Given the description of an element on the screen output the (x, y) to click on. 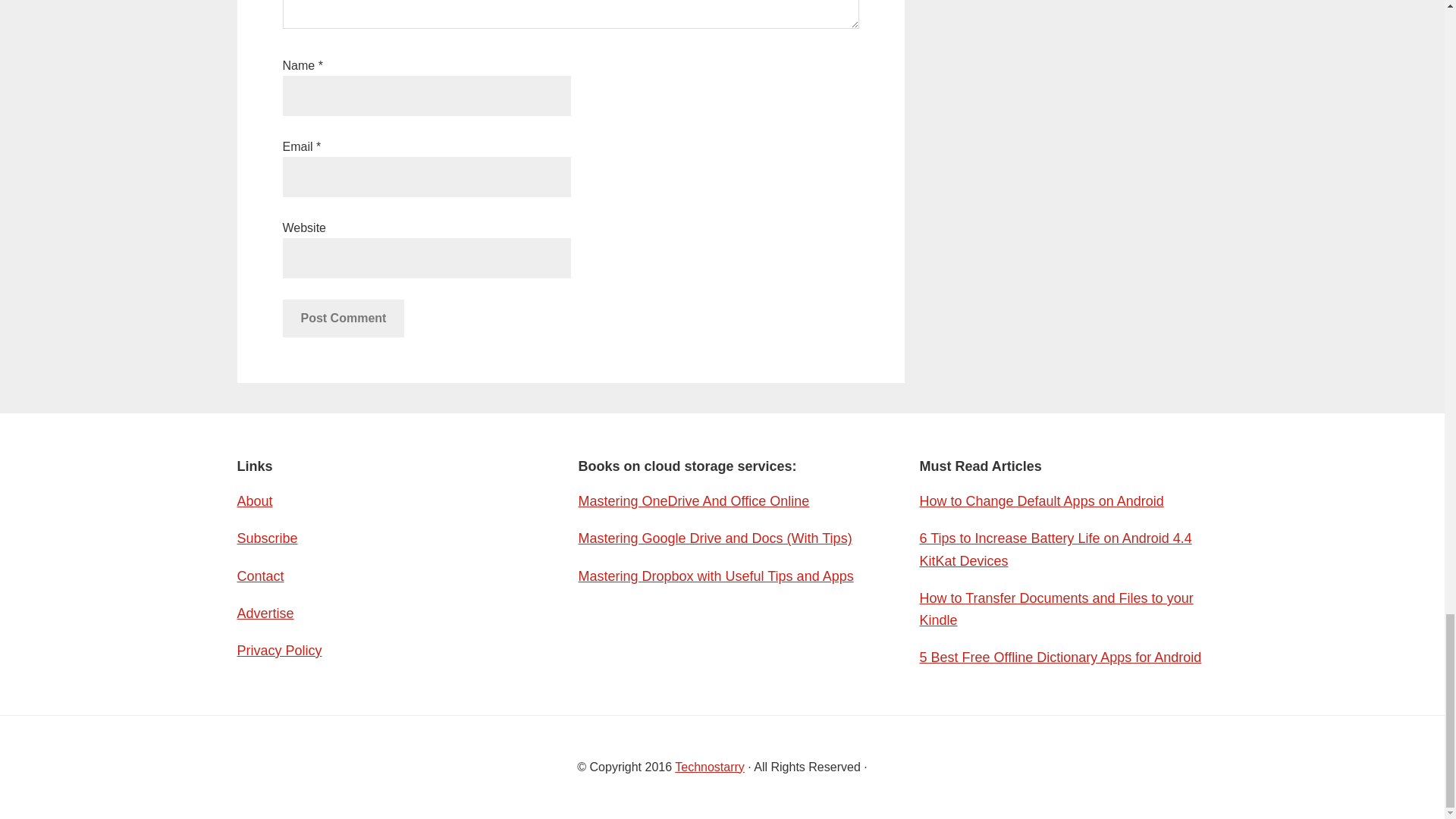
About (253, 500)
How to Change Default Apps on Android (1040, 500)
Mastering Dropbox with Useful Tips and Apps (715, 575)
Mastering OneDrive And Office Online (693, 500)
Advertise (264, 613)
Post Comment (343, 318)
Post Comment (343, 318)
Privacy Policy (278, 650)
Subscribe (266, 538)
